Given the description of an element on the screen output the (x, y) to click on. 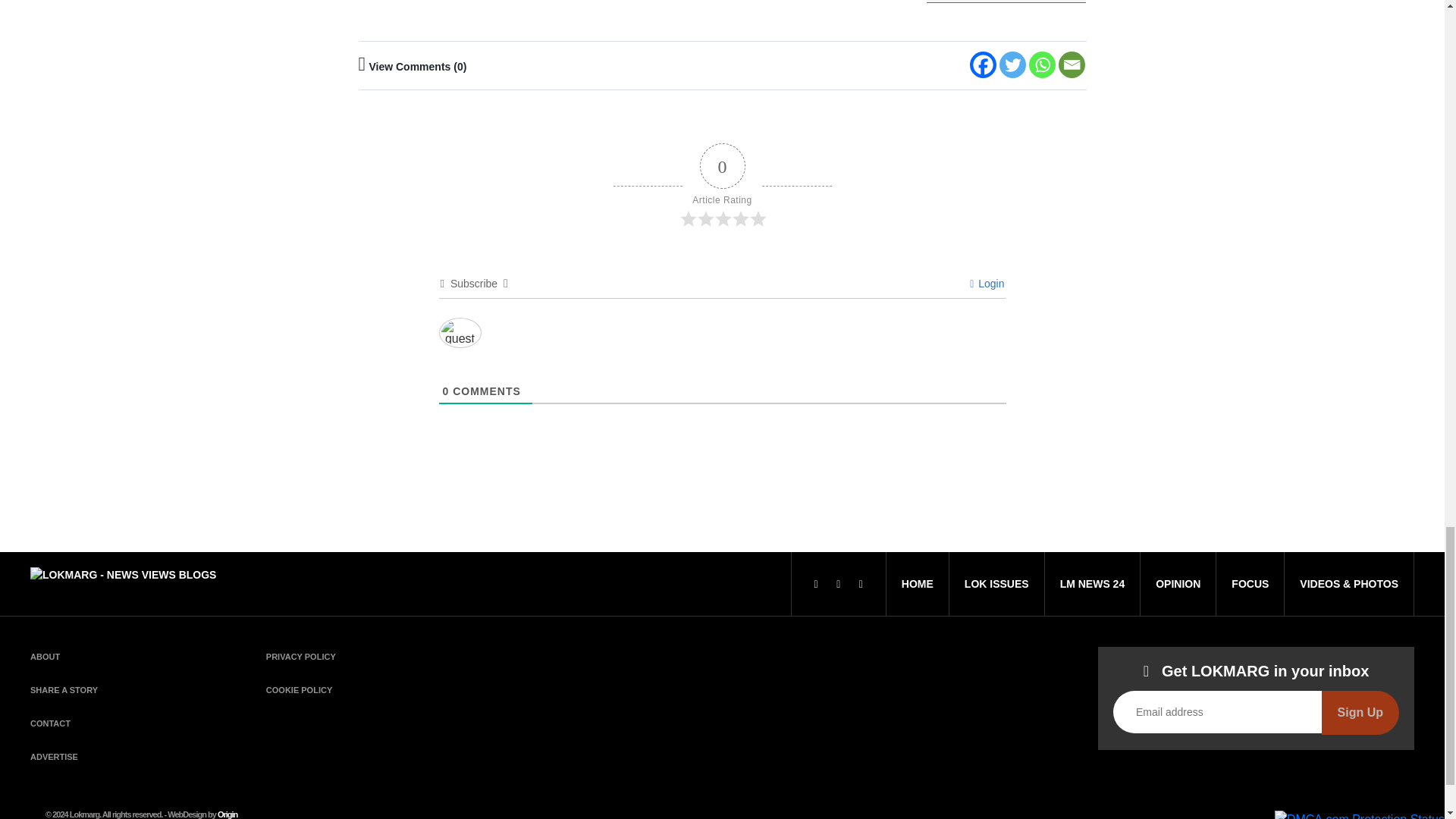
Login (986, 283)
Sign Up (1360, 712)
